Given the description of an element on the screen output the (x, y) to click on. 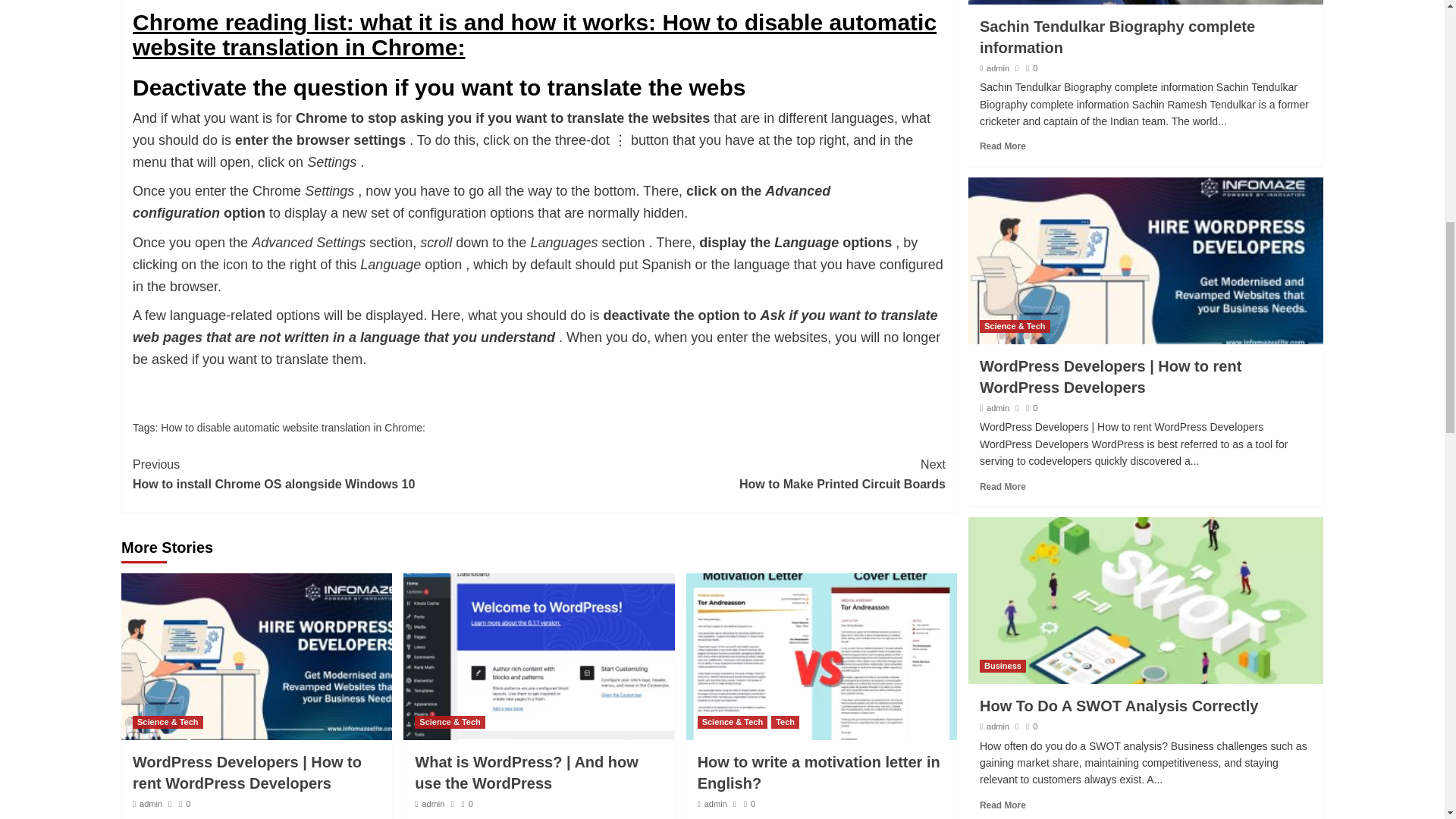
0 (335, 474)
admin (184, 803)
How to disable automatic website translation in Chrome: (433, 803)
admin (292, 427)
